Given the description of an element on the screen output the (x, y) to click on. 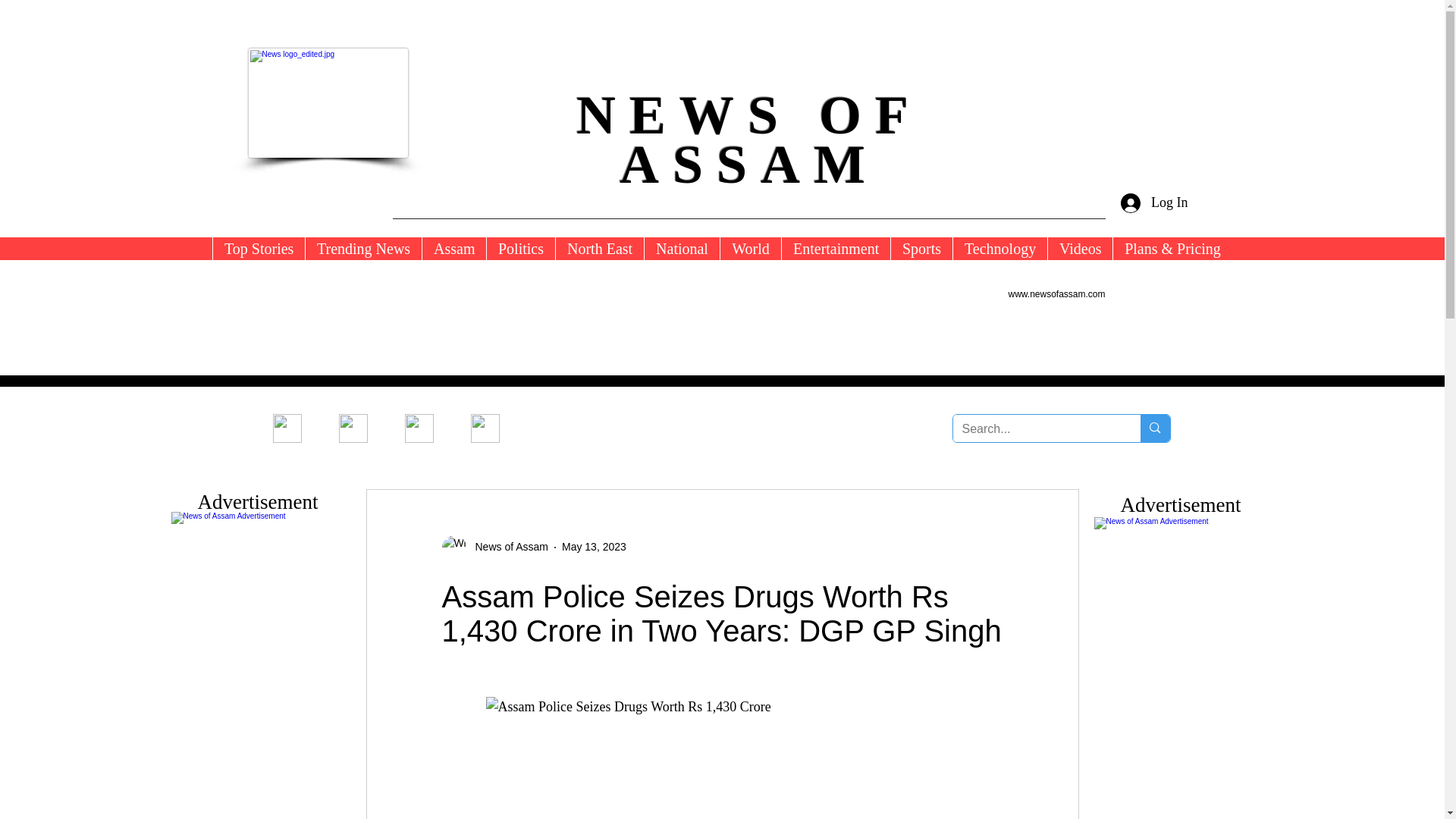
Technology (999, 248)
Entertainment (834, 248)
National (681, 248)
Politics (520, 248)
Videos (1079, 248)
North East (598, 248)
Trending News (363, 248)
www.newsofassam.com (1057, 294)
Log In (1153, 203)
World (749, 248)
